Given the description of an element on the screen output the (x, y) to click on. 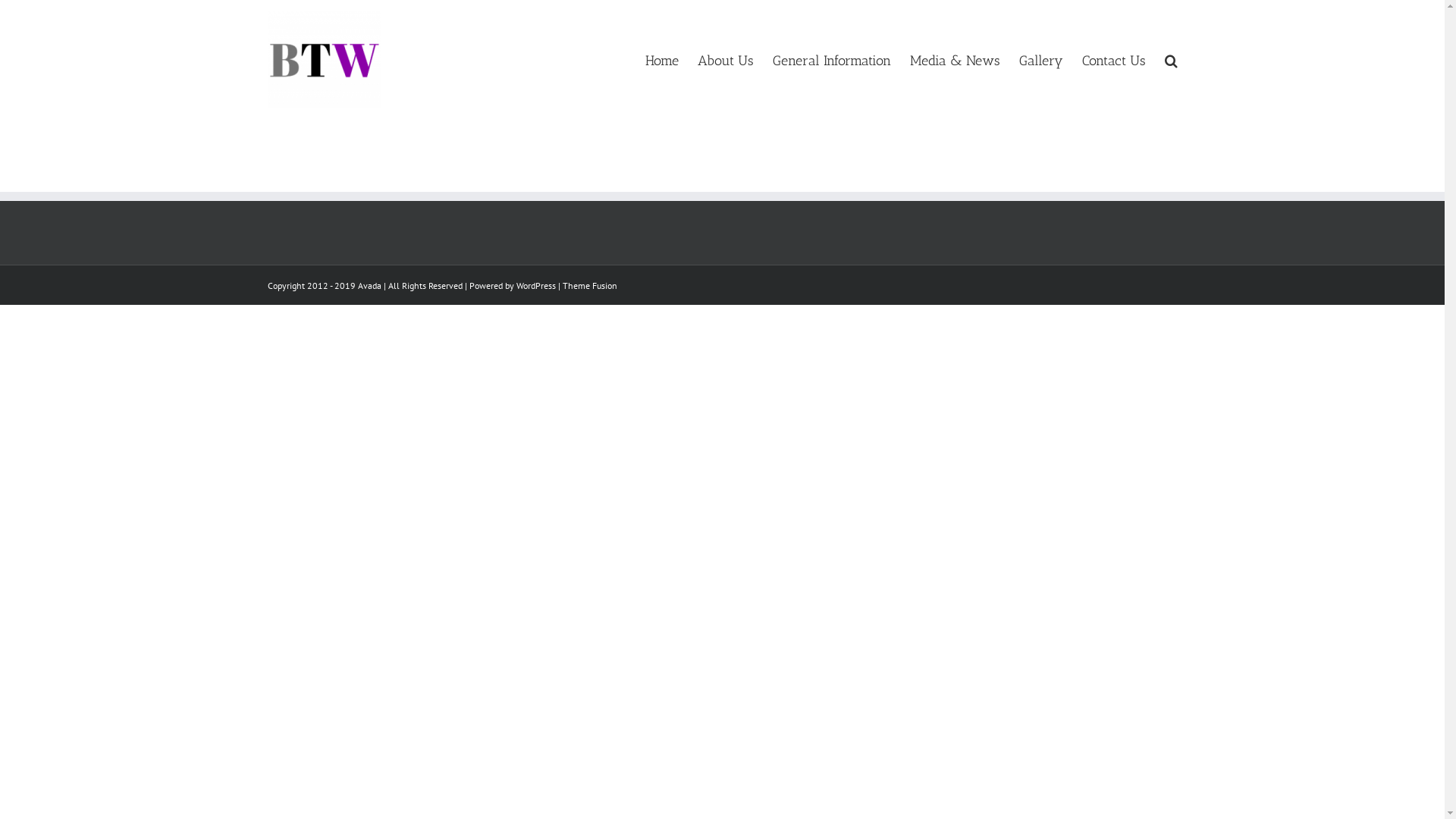
General Information Element type: text (830, 59)
Gallery Element type: text (1041, 59)
Media & News Element type: text (955, 59)
WordPress Element type: text (535, 285)
Home Element type: text (660, 59)
Search Element type: hover (1170, 59)
Contact Us Element type: text (1113, 59)
Theme Fusion Element type: text (589, 285)
About Us Element type: text (725, 59)
